Given the description of an element on the screen output the (x, y) to click on. 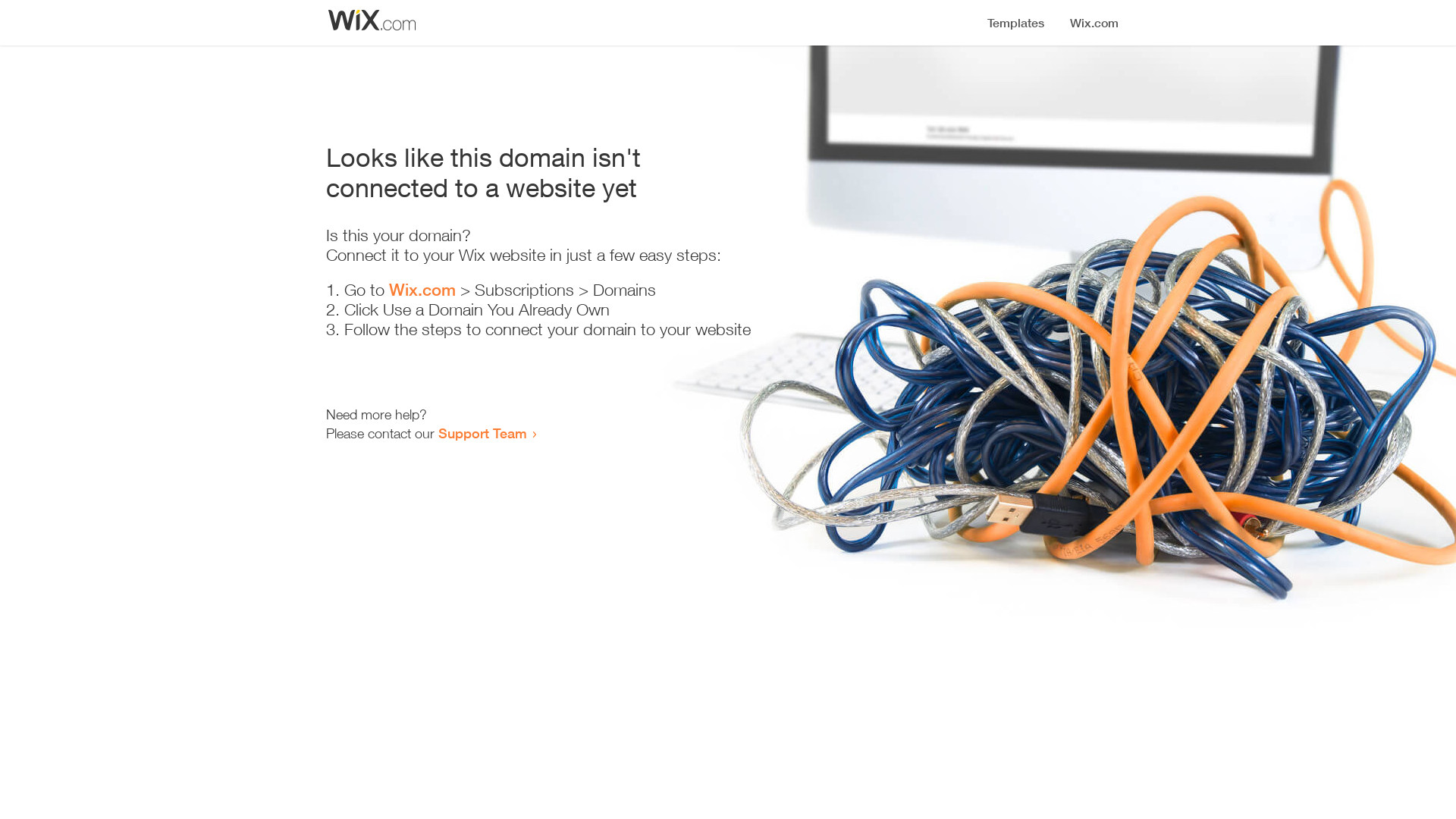
Wix.com Element type: text (422, 289)
Support Team Element type: text (482, 432)
